Given the description of an element on the screen output the (x, y) to click on. 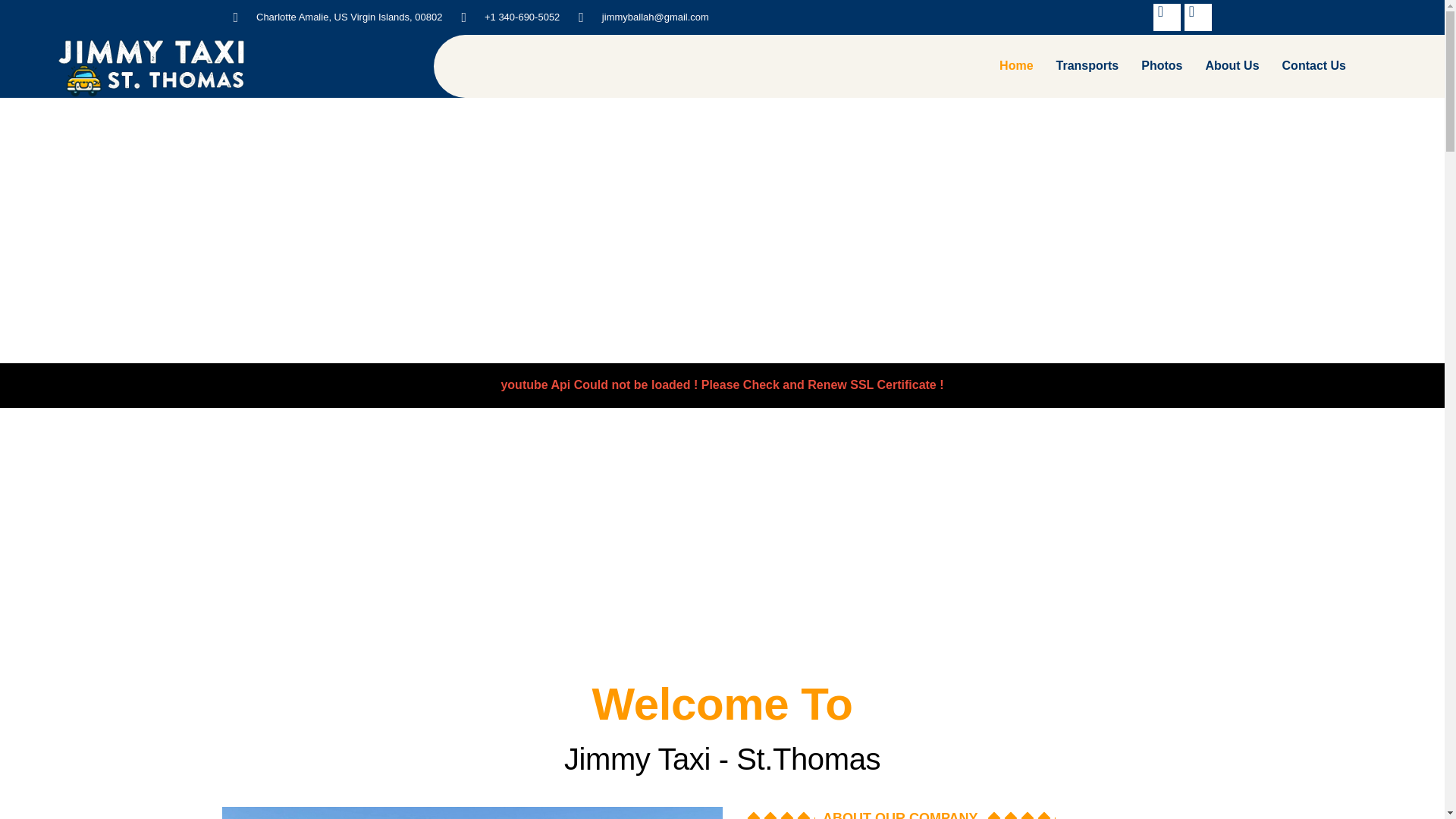
Transports (1088, 66)
Home (151, 66)
Contact Us (1313, 66)
About Us (1231, 66)
Photos (1161, 66)
Home (1015, 66)
